Given the description of an element on the screen output the (x, y) to click on. 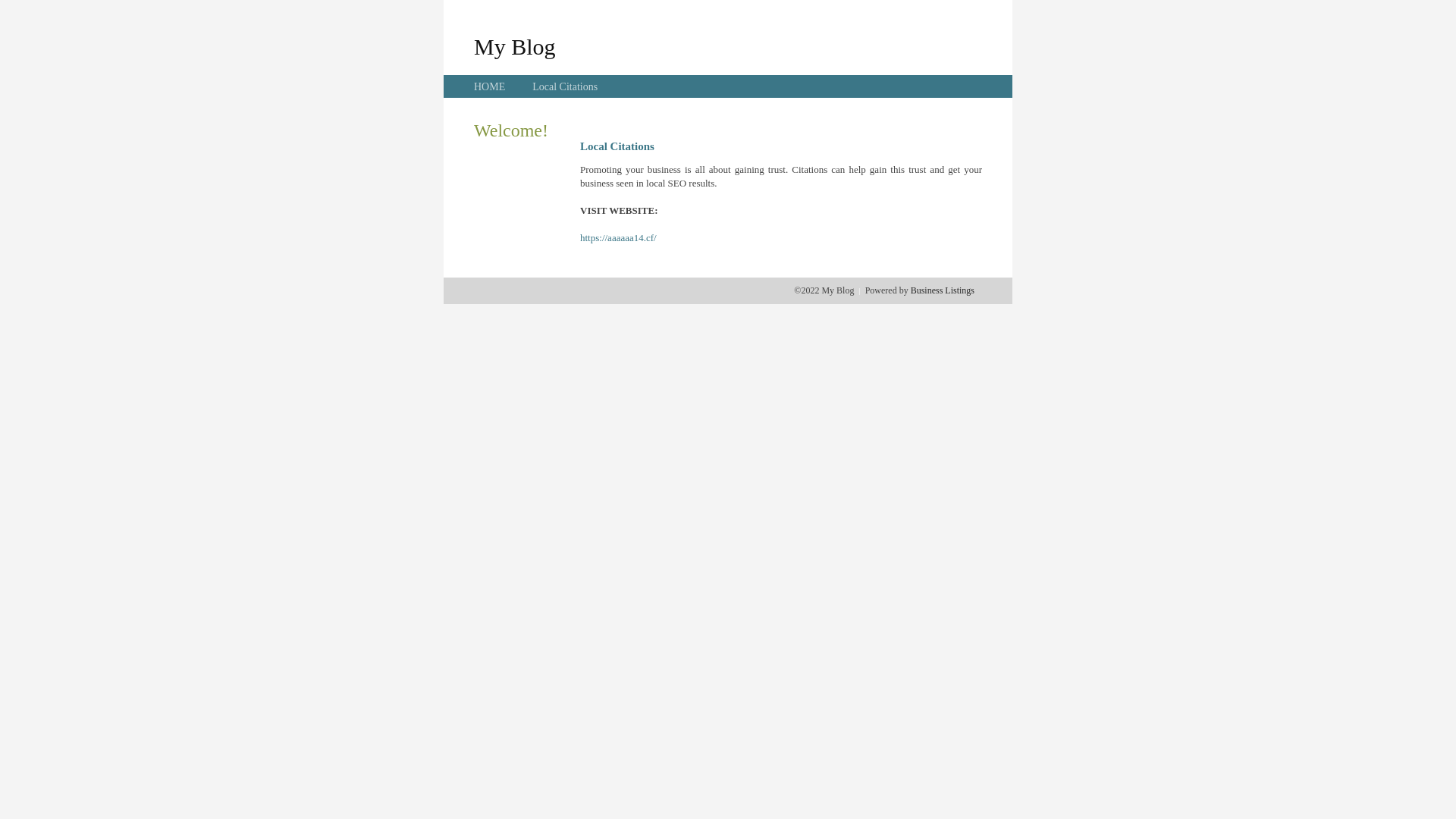
https://aaaaaa14.cf/ Element type: text (618, 237)
Local Citations Element type: text (564, 86)
Business Listings Element type: text (942, 290)
HOME Element type: text (489, 86)
My Blog Element type: text (514, 46)
